Given the description of an element on the screen output the (x, y) to click on. 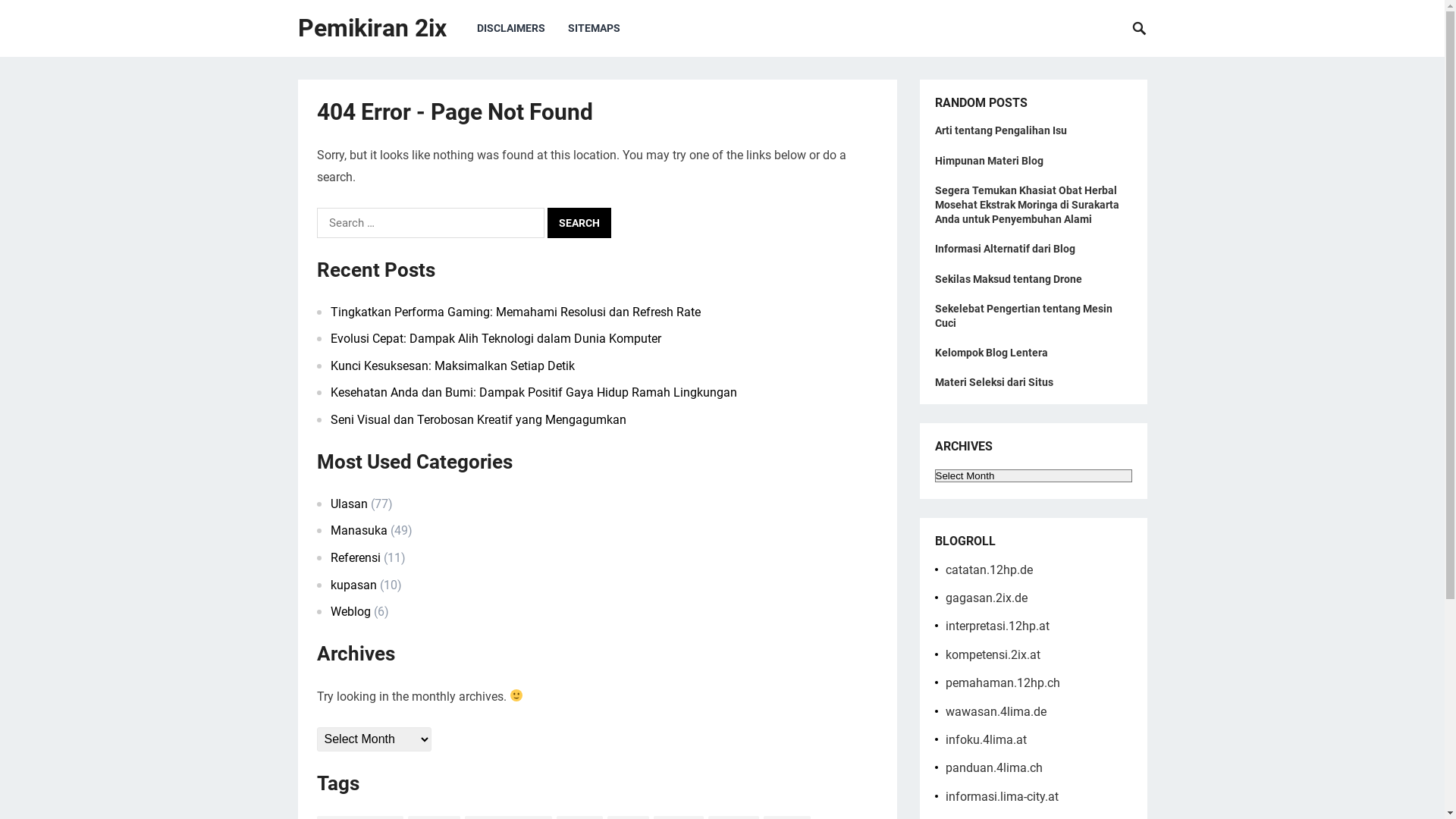
Referensi Element type: text (355, 557)
Kelompok Blog Lentera Element type: text (990, 352)
Ulasan Element type: text (348, 503)
Pemikiran 2ix Element type: text (371, 28)
Seni Visual dan Terobosan Kreatif yang Mengagumkan Element type: text (478, 419)
catatan.12hp.de Element type: text (988, 569)
Search Element type: text (579, 222)
Himpunan Materi Blog Element type: text (988, 160)
kupasan Element type: text (353, 584)
kompetensi.2ix.at Element type: text (991, 654)
DISCLAIMERS Element type: text (510, 28)
Informasi Alternatif dari Blog Element type: text (1004, 248)
Manasuka Element type: text (358, 530)
SITEMAPS Element type: text (593, 28)
Weblog Element type: text (350, 611)
Materi Seleksi dari Situs Element type: text (993, 382)
informasi.lima-city.at Element type: text (1000, 796)
Arti tentang Pengalihan Isu Element type: text (1000, 130)
panduan.4lima.ch Element type: text (992, 767)
infoku.4lima.at Element type: text (985, 739)
Kunci Kesuksesan: Maksimalkan Setiap Detik Element type: text (452, 365)
Evolusi Cepat: Dampak Alih Teknologi dalam Dunia Komputer Element type: text (495, 338)
Sekilas Maksud tentang Drone Element type: text (1007, 279)
interpretasi.12hp.at Element type: text (996, 625)
gagasan.2ix.de Element type: text (985, 597)
wawasan.4lima.de Element type: text (994, 711)
pemahaman.12hp.ch Element type: text (1001, 682)
Sekelebat Pengertian tentang Mesin Cuci Element type: text (1022, 315)
